Given the description of an element on the screen output the (x, y) to click on. 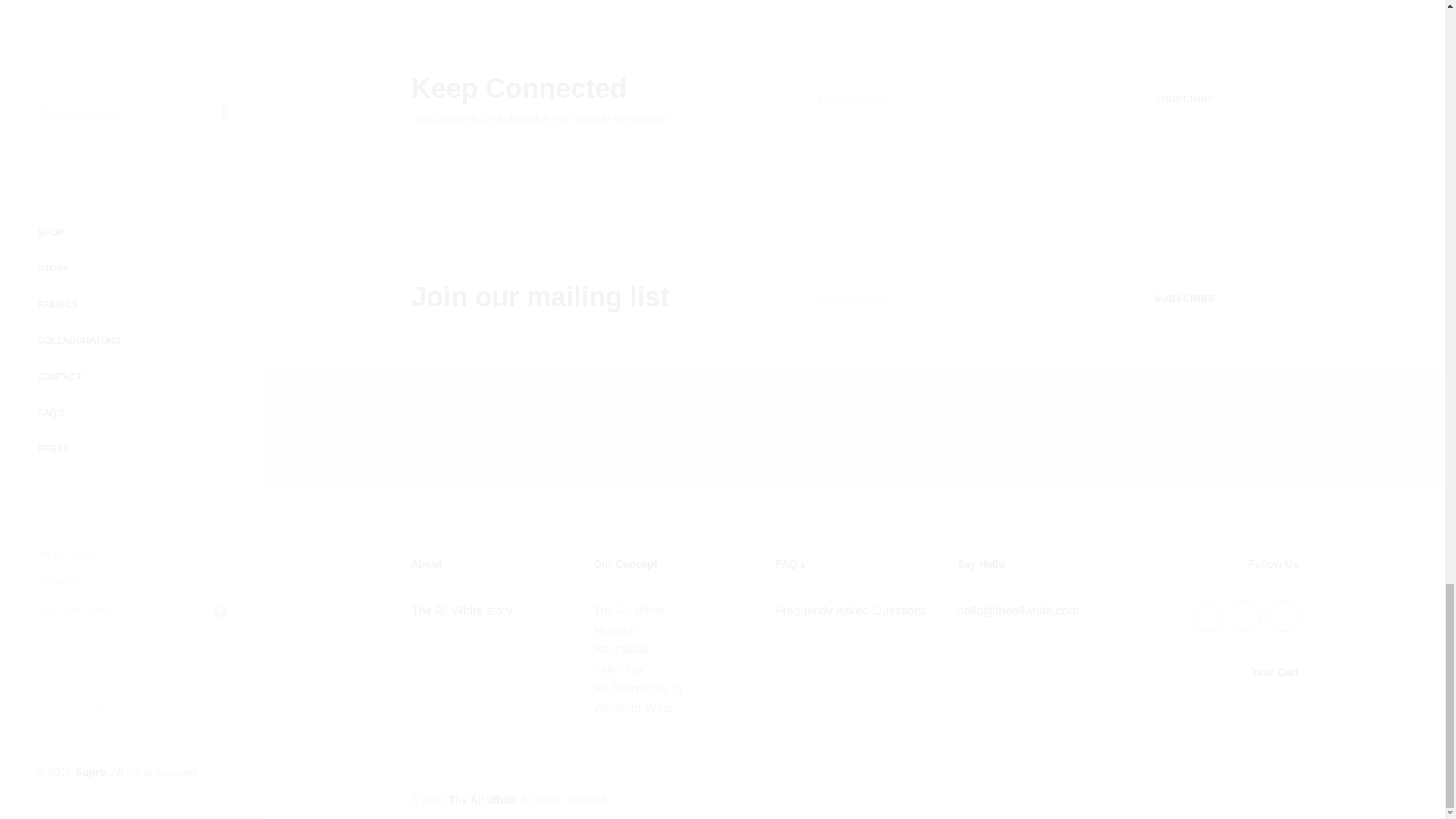
Facebook (1207, 616)
Pinterest (1245, 616)
Subscribe (1184, 298)
Instagram (1283, 616)
Subscribe (1184, 99)
